Given the description of an element on the screen output the (x, y) to click on. 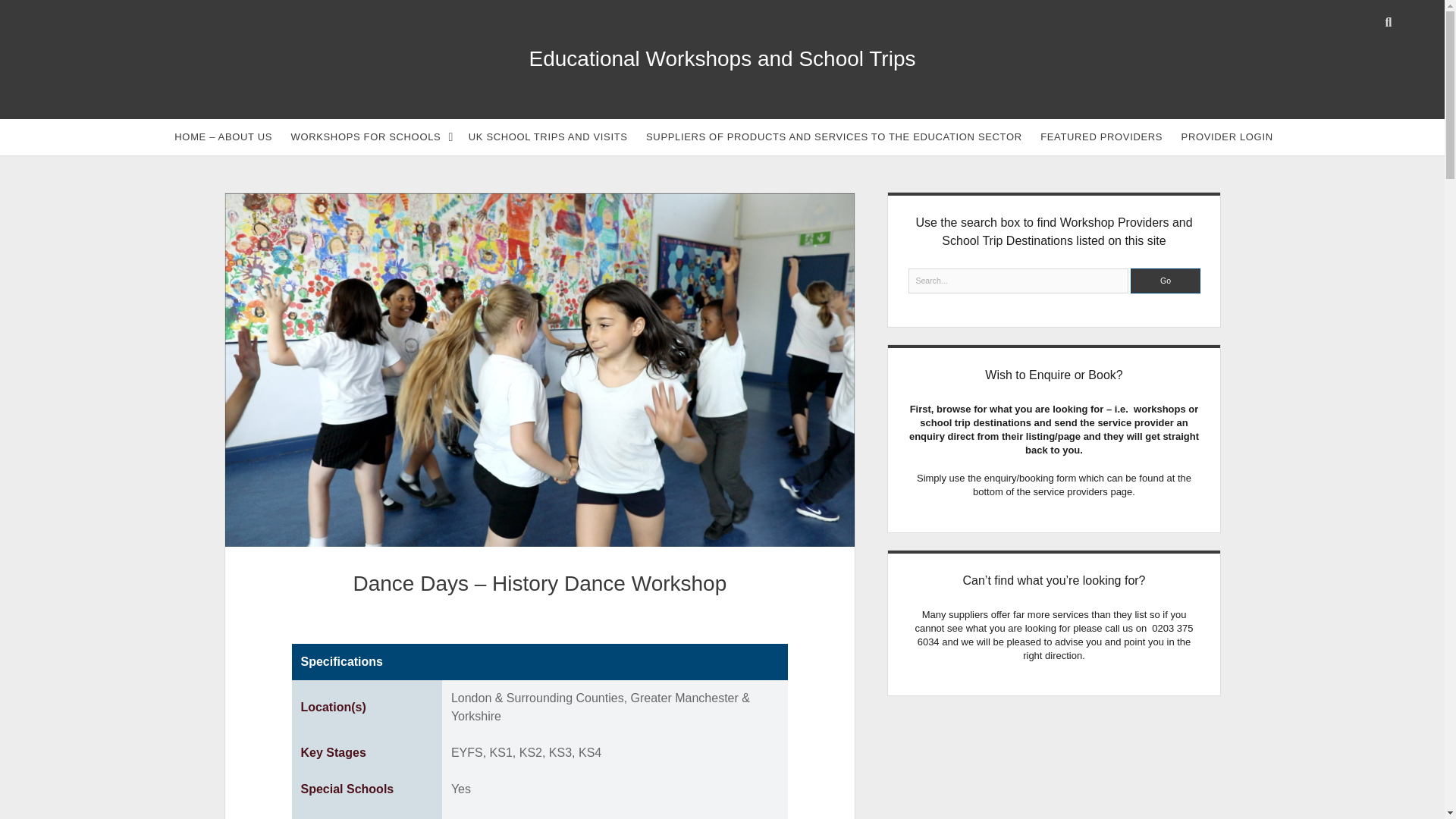
Go (1165, 281)
Go (1165, 281)
FEATURED PROVIDERS (1101, 136)
Go (1165, 281)
UK SCHOOL TRIPS AND VISITS (548, 136)
Educational Workshops and School Trips (722, 58)
WORKSHOPS FOR SCHOOLS (371, 136)
Search for: (1018, 281)
PROVIDER LOGIN (1227, 136)
SUPPLIERS OF PRODUCTS AND SERVICES TO THE EDUCATION SECTOR (833, 136)
